Given the description of an element on the screen output the (x, y) to click on. 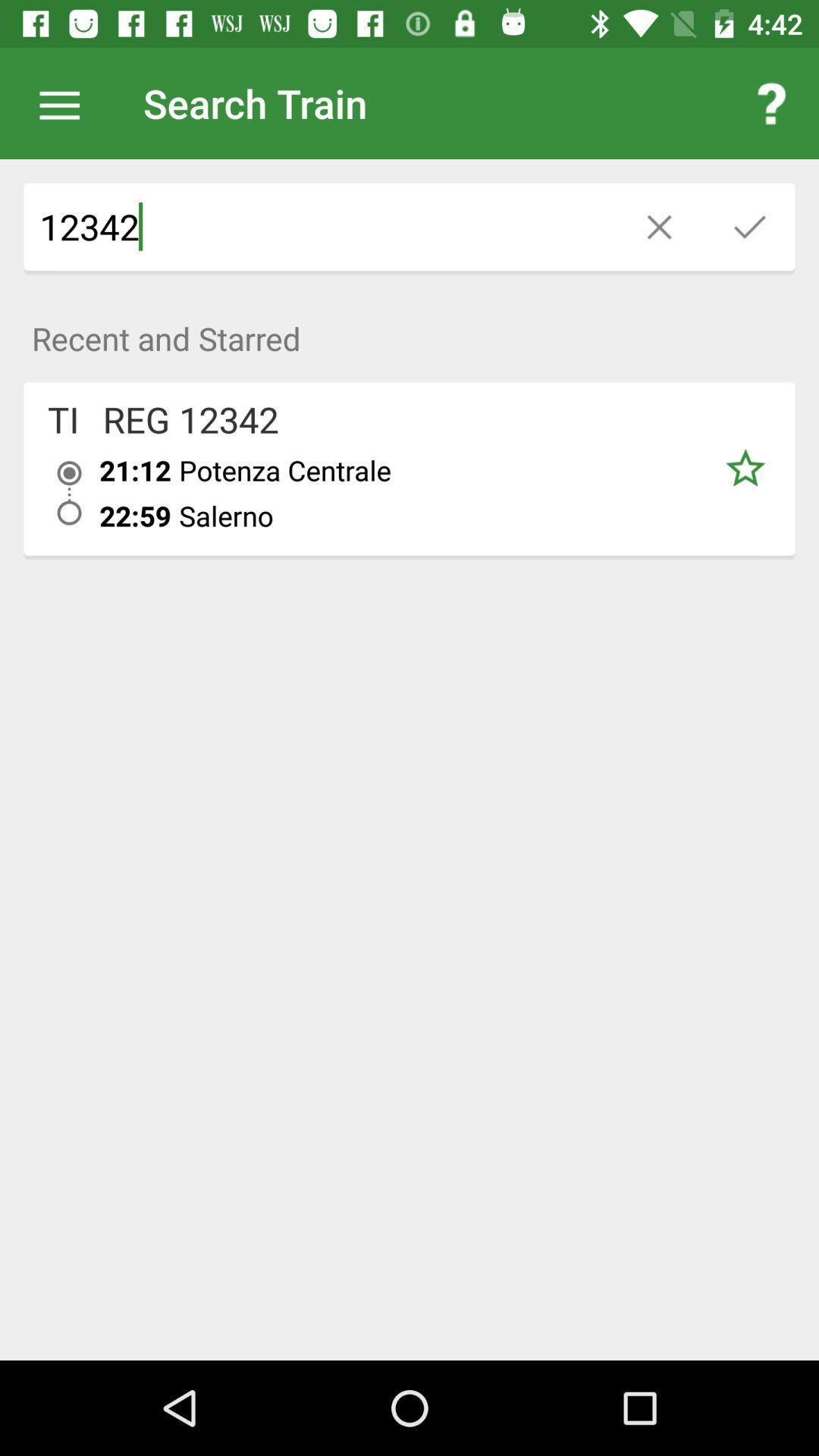
open main menu (67, 103)
